Given the description of an element on the screen output the (x, y) to click on. 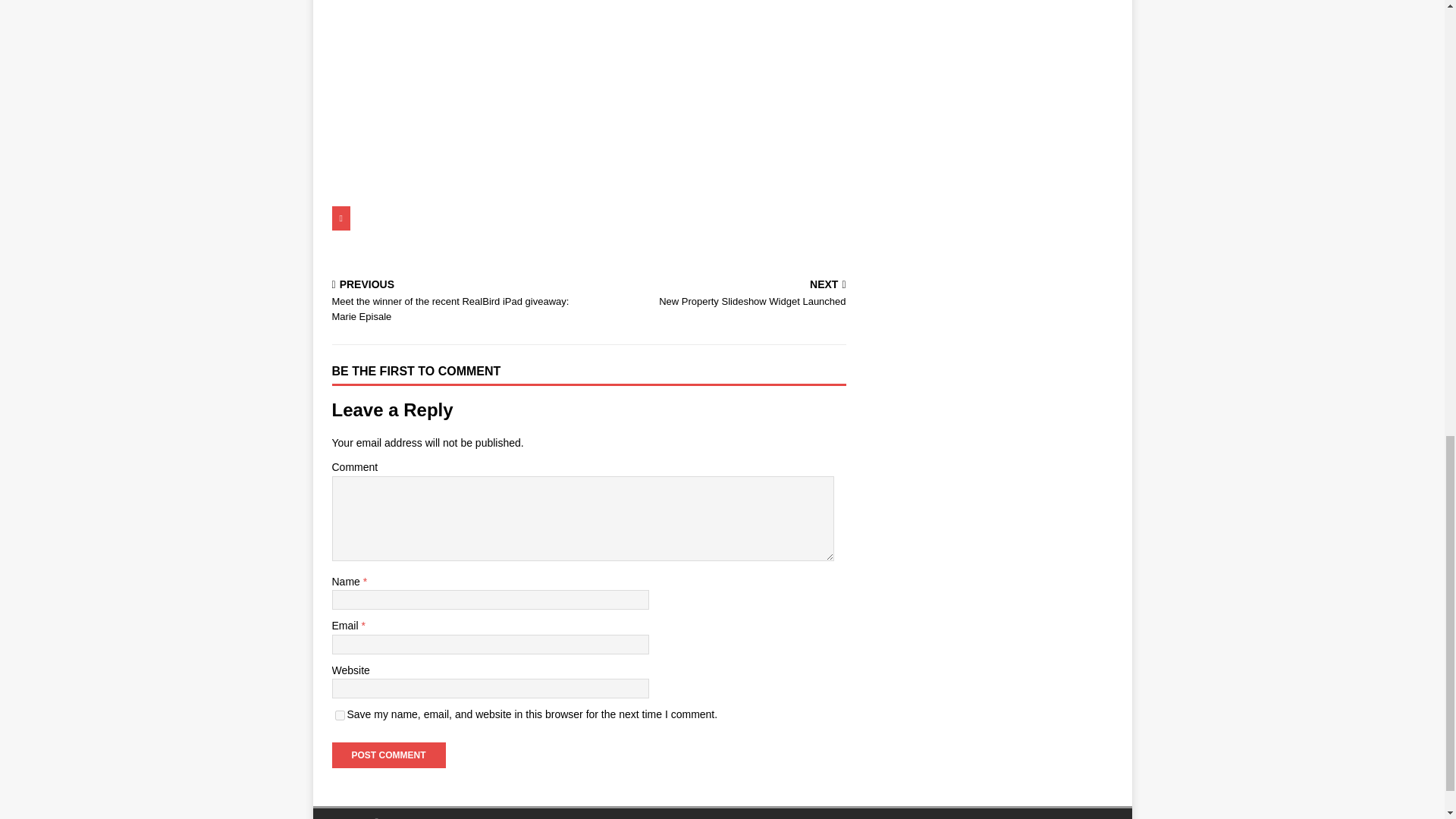
Post Comment (388, 755)
LISTING PUBLISHER (720, 294)
SMARTPHONES (497, 218)
Post Comment (704, 247)
CASE STUDY (388, 755)
QR CODES (395, 218)
MOBILE (657, 218)
SMS (588, 218)
